Given the description of an element on the screen output the (x, y) to click on. 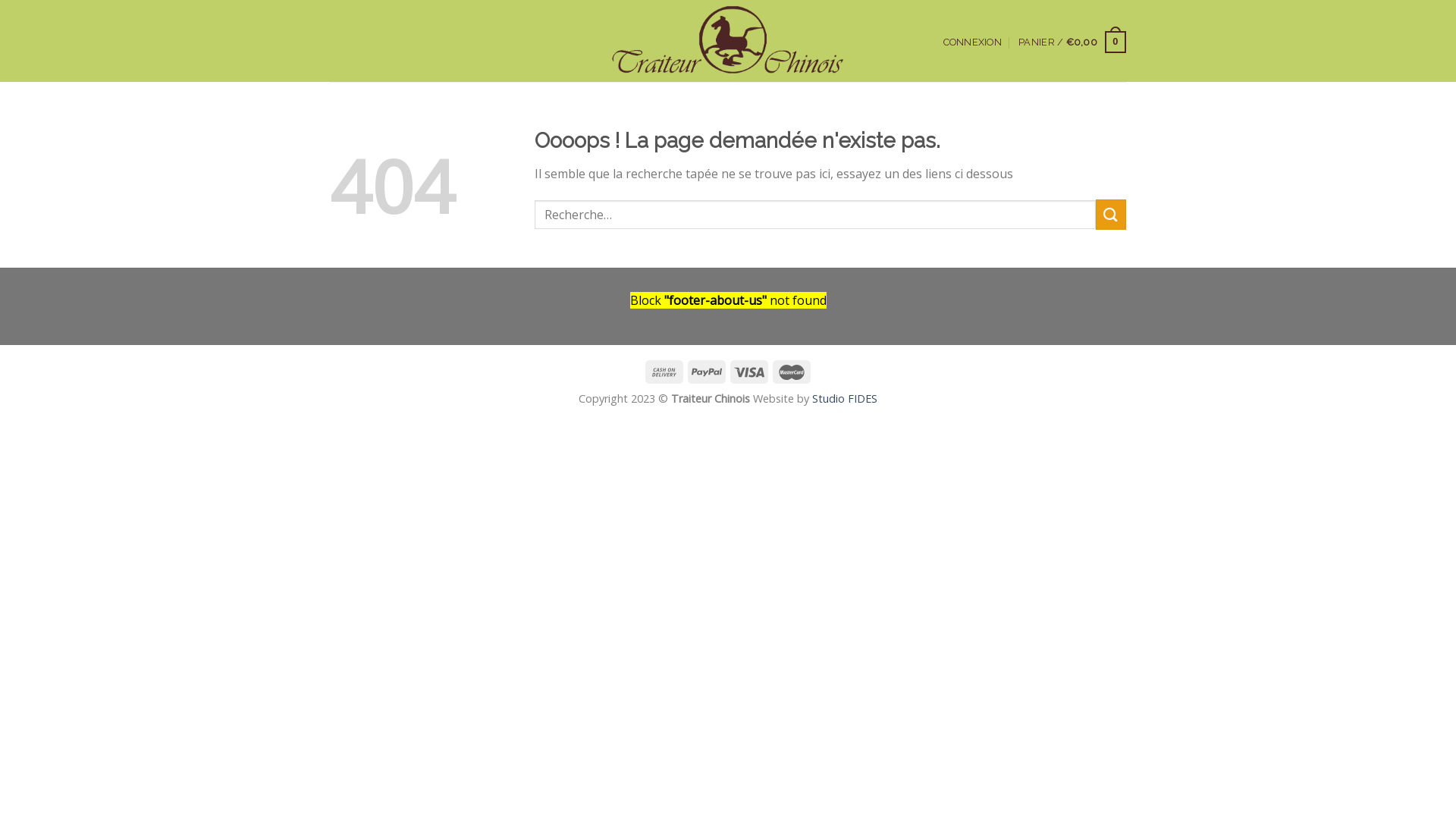
Studio FIDES Element type: text (844, 398)
Traiteur Chinois Brussel - Fine Chinese takeaway in Brussels Element type: hover (728, 40)
CONNEXION Element type: text (972, 42)
